Given the description of an element on the screen output the (x, y) to click on. 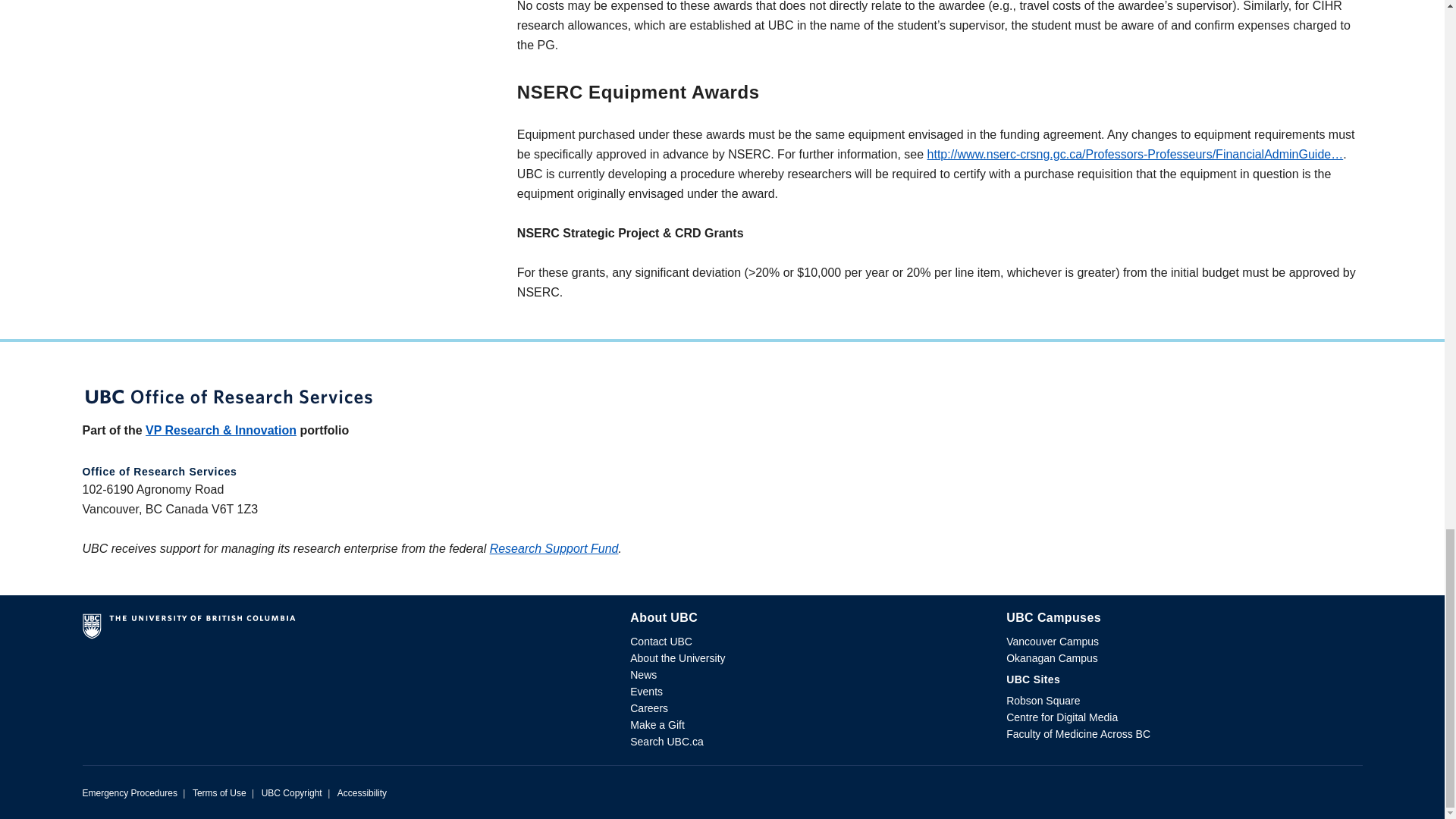
Federal Research Support Fund (553, 548)
